Given the description of an element on the screen output the (x, y) to click on. 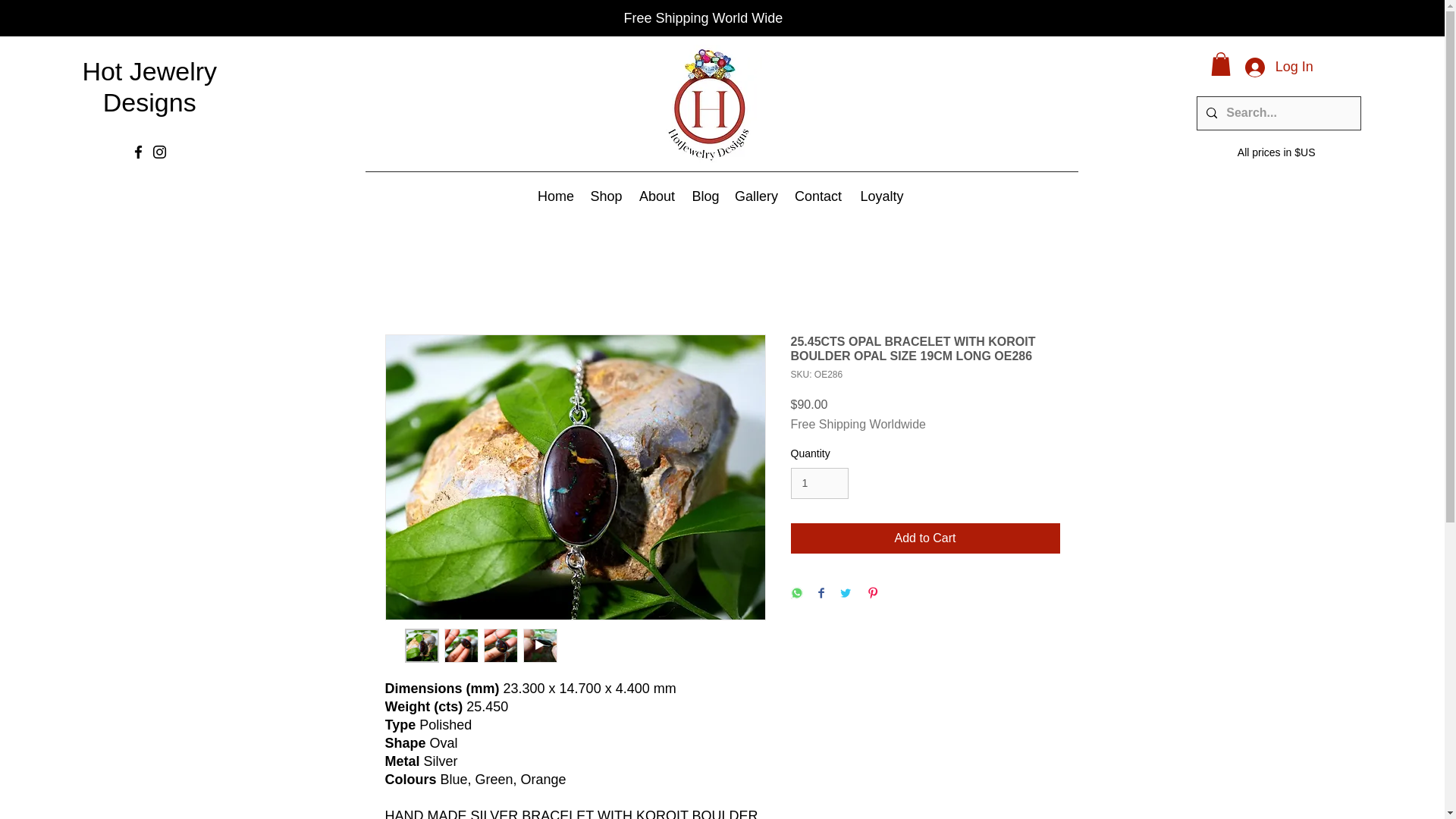
Gallery (755, 195)
Home (555, 195)
Free Shipping Worldwide (857, 424)
Blog (705, 195)
Contact (817, 195)
Log In (1278, 67)
Add to Cart (924, 538)
1 (818, 482)
Loyalty (881, 195)
Shop (606, 195)
